Given the description of an element on the screen output the (x, y) to click on. 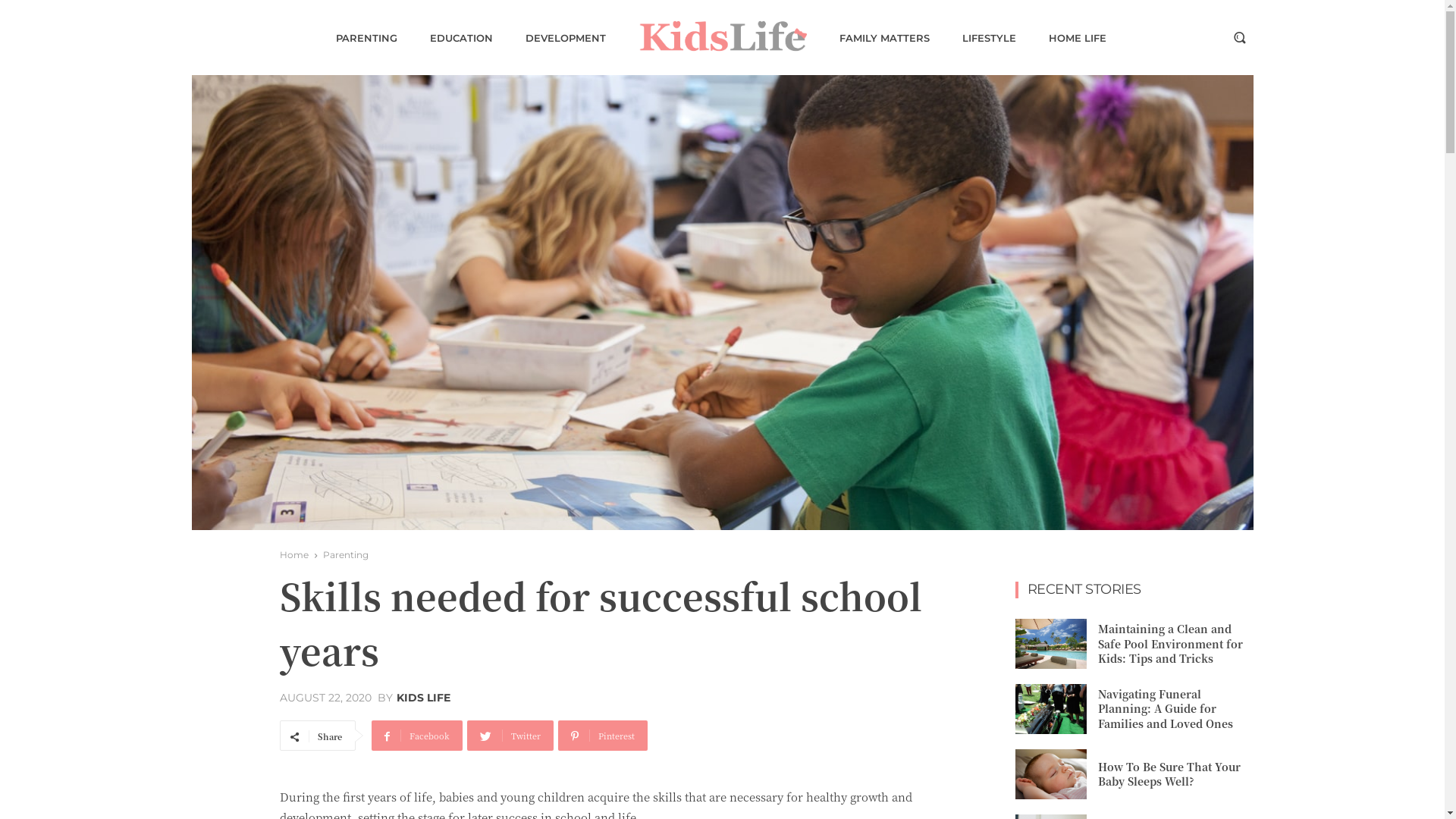
Twitter Element type: text (510, 735)
Parenting Element type: text (345, 554)
EDUCATION Element type: text (460, 37)
PARENTING Element type: text (365, 37)
Home Element type: text (293, 554)
DEVELOPMENT Element type: text (564, 37)
How To Be Sure That Your Baby Sleeps Well? Element type: text (1169, 774)
HOME LIFE Element type: text (1076, 37)
FAMILY MATTERS Element type: text (883, 37)
How To Be Sure That Your Baby Sleeps Well? Element type: hover (1049, 774)
KIDS LIFE Element type: text (423, 697)
Pinterest Element type: text (602, 735)
Facebook Element type: text (416, 735)
LIFESTYLE Element type: text (988, 37)
